Given the description of an element on the screen output the (x, y) to click on. 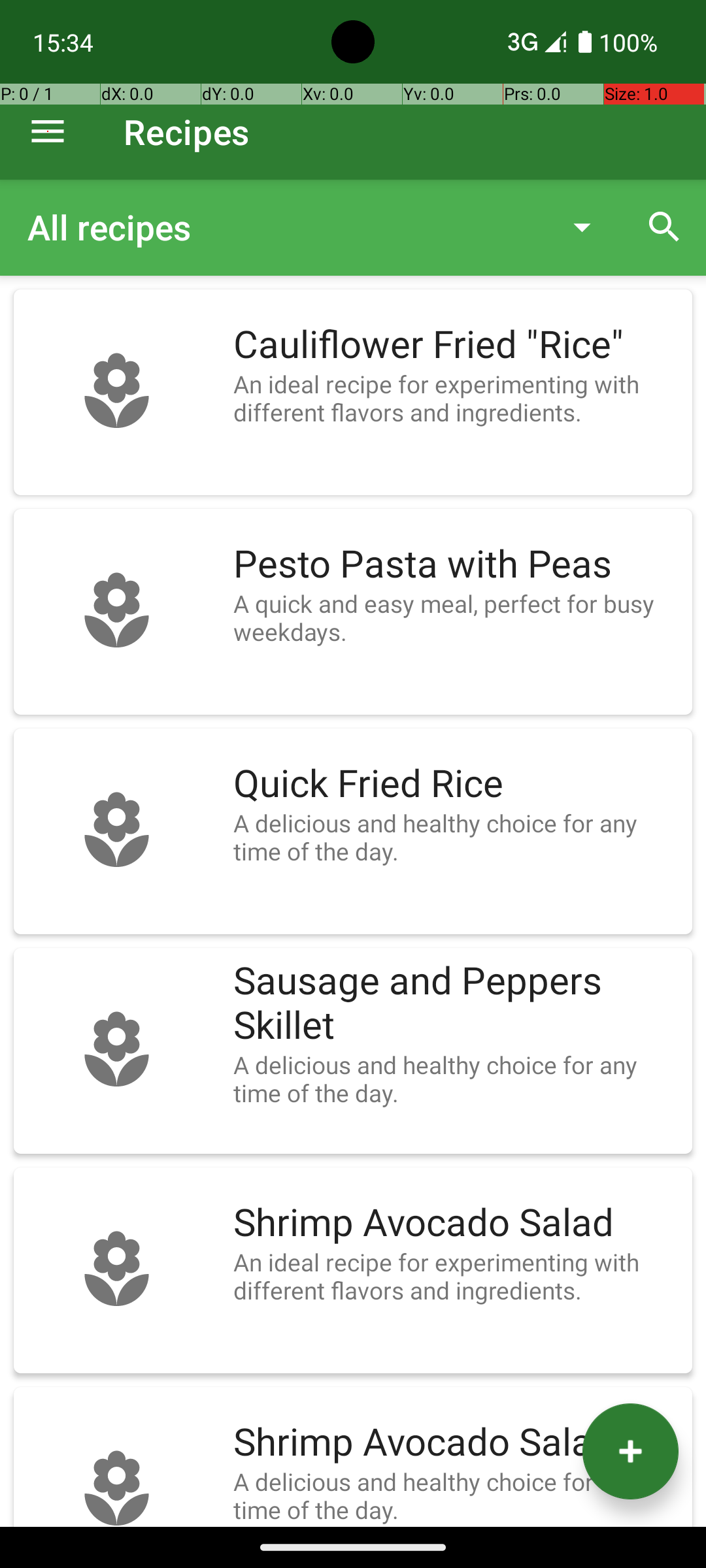
Pesto Pasta with Peas Element type: android.widget.TextView (455, 564)
Quick Fried Rice Element type: android.widget.TextView (455, 783)
Sausage and Peppers Skillet Element type: android.widget.TextView (455, 1003)
Shrimp Avocado Salad Element type: android.widget.TextView (455, 1222)
